Given the description of an element on the screen output the (x, y) to click on. 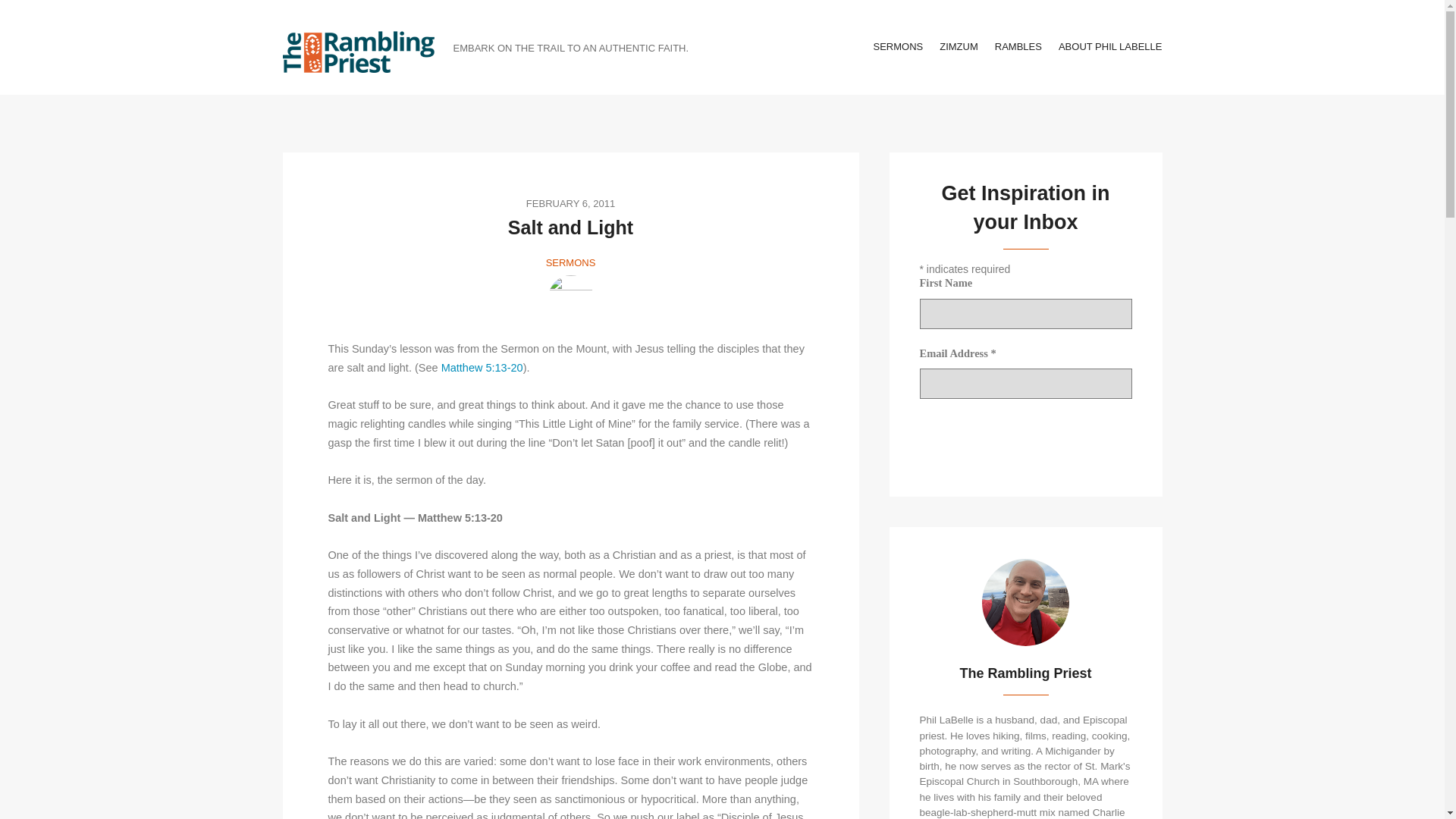
Sign Up (956, 433)
ZIMZUM (958, 45)
Matthew 5:13-20 (481, 367)
Search (31, 18)
RAMBLES (1018, 45)
ABOUT PHIL LABELLE (1109, 45)
Sign Up (956, 433)
SERMONS (570, 262)
Phil LaBelle (570, 297)
SERMONS (898, 45)
